Given the description of an element on the screen output the (x, y) to click on. 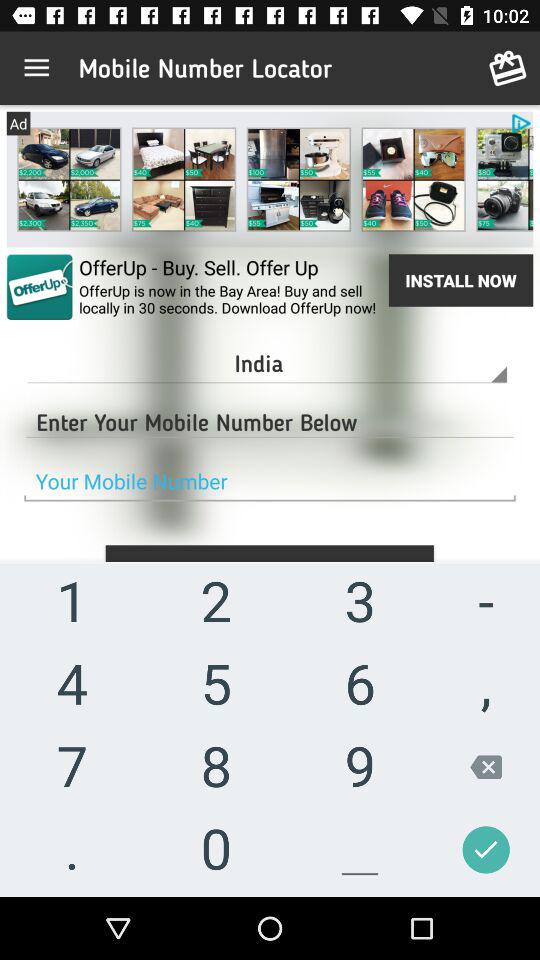
click on icon at top right corner (508, 68)
